Given the description of an element on the screen output the (x, y) to click on. 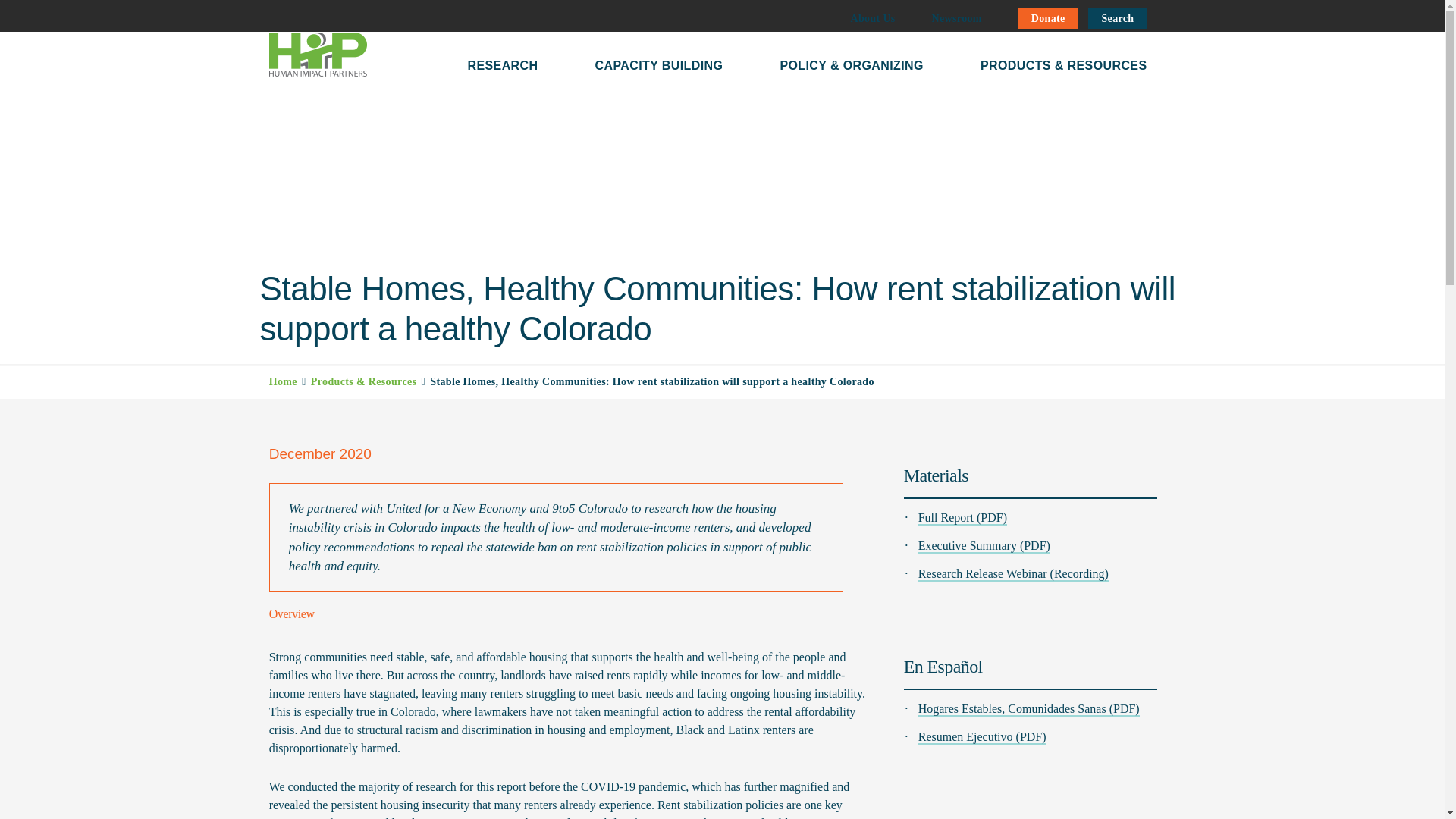
Donate (1047, 18)
About Us (872, 18)
RESEARCH (502, 62)
Home (283, 381)
CAPACITY BUILDING (658, 62)
Human Impact Partners (316, 55)
Newsroom (956, 18)
Search (1117, 18)
